Given the description of an element on the screen output the (x, y) to click on. 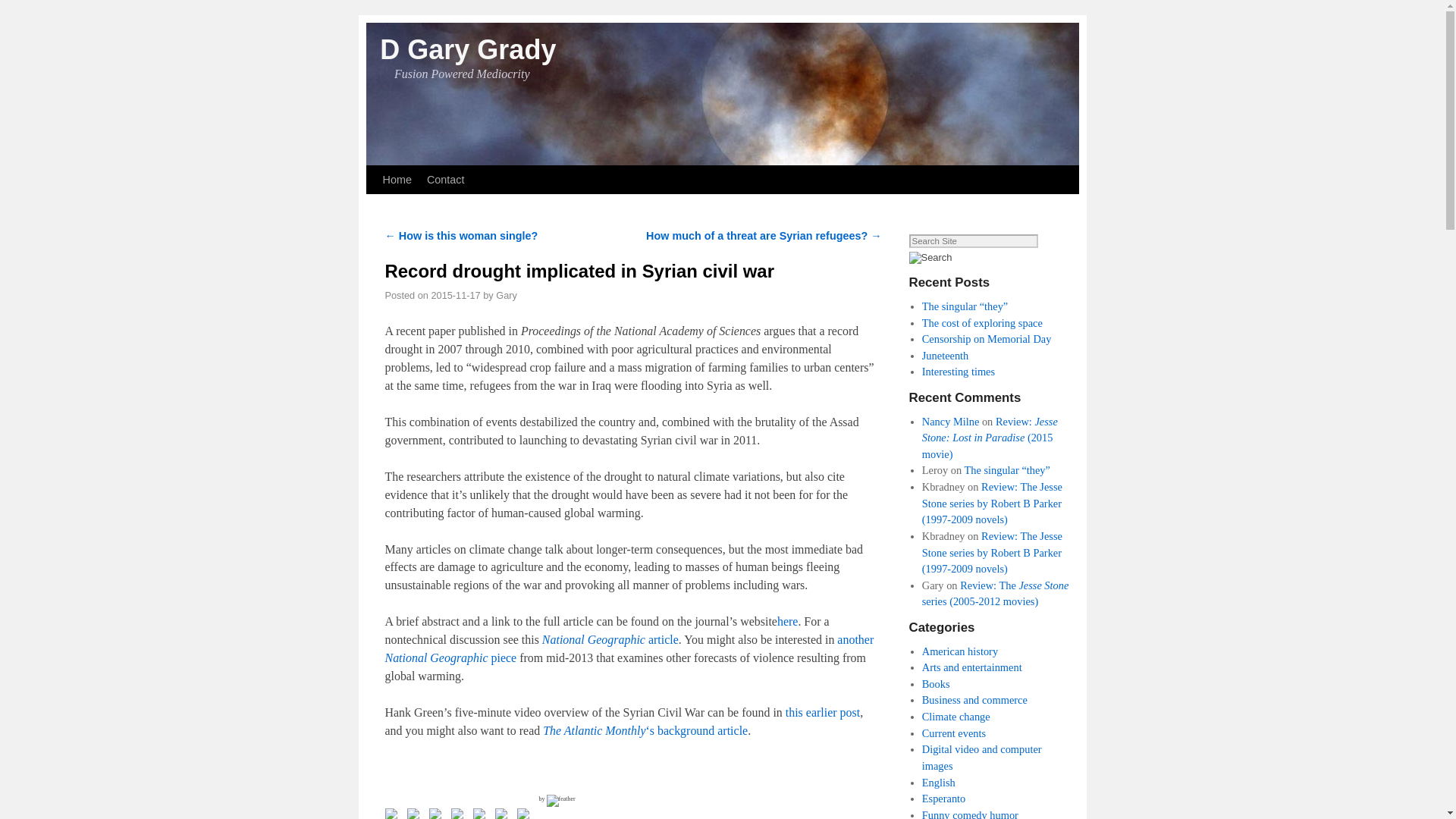
Contact (445, 179)
Censorship on Memorial Day (986, 338)
Share on Reddit (435, 813)
Home (396, 179)
Pin it with Pinterest (458, 813)
Share on Linkedin (478, 813)
Share on Reddit (437, 813)
Share on Twitter (415, 813)
Share on Facebook (394, 813)
D Gary Grady (468, 49)
Share on Twitter (412, 813)
Skip to primary content (408, 172)
2015-11-17 (455, 295)
19:38 (455, 295)
View all posts by Gary (506, 295)
